Given the description of an element on the screen output the (x, y) to click on. 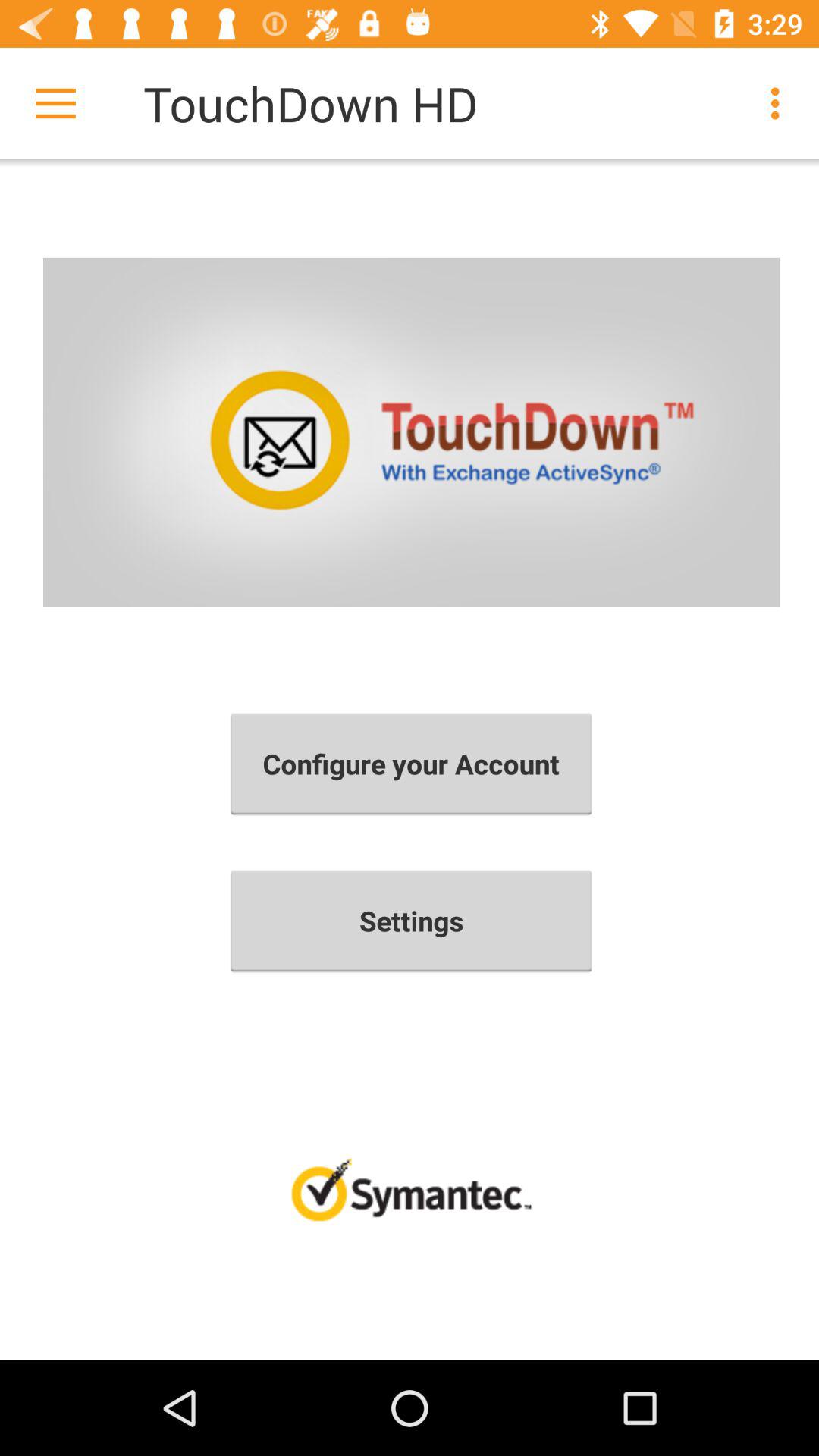
click item next to the touchdown hd item (55, 103)
